Given the description of an element on the screen output the (x, y) to click on. 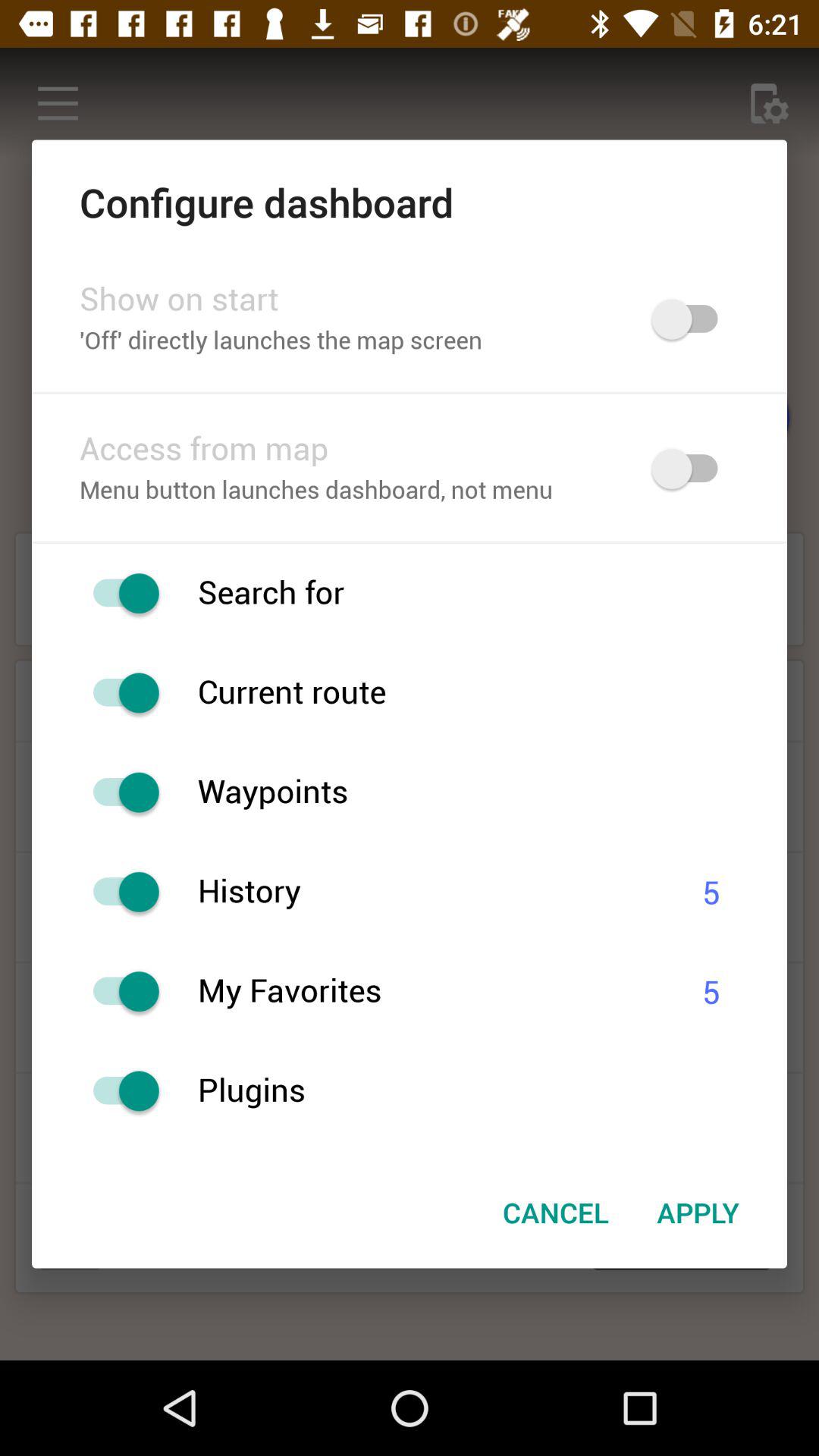
toggle plugins option (118, 1091)
